Given the description of an element on the screen output the (x, y) to click on. 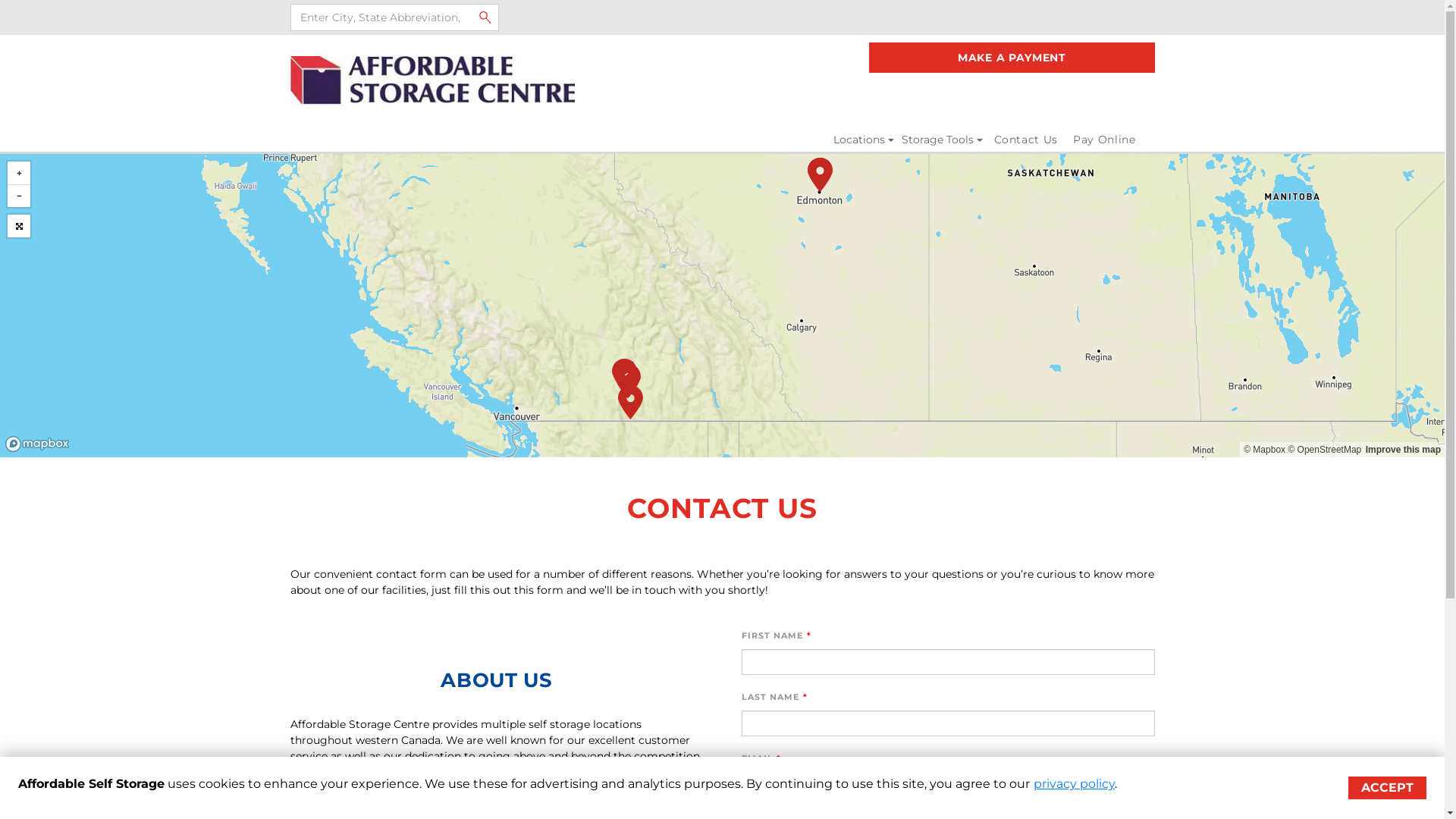
ACCEPT Element type: text (1387, 787)
Zoom Out Element type: hover (18, 195)
Contact Us Element type: text (1025, 139)
Locations Element type: text (863, 139)
privacy policy Element type: text (1073, 783)
Toggle fullscreen Element type: hover (18, 225)
Affordable Storage Centre Element type: hover (431, 80)
MAKE A PAYMENT Element type: text (1011, 57)
Improve this map Element type: text (1402, 449)
Zoom In Element type: hover (18, 172)
Storage Tools Element type: text (941, 139)
Pay Online Element type: text (1104, 139)
